Given the description of an element on the screen output the (x, y) to click on. 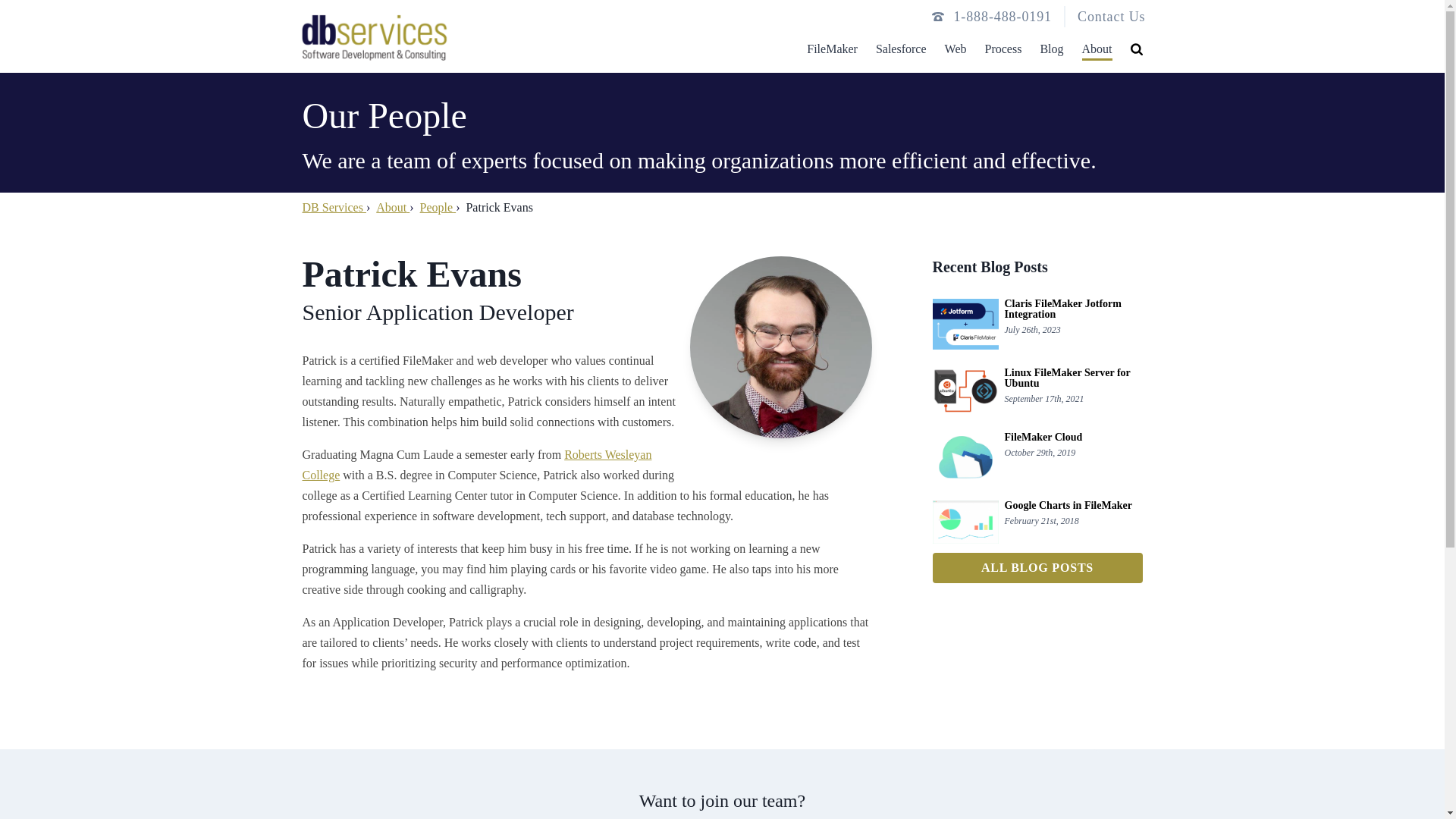
Salesforce (901, 45)
Contact Us (1111, 16)
1-888-488-0191 (1002, 16)
FileMaker (831, 45)
